Given the description of an element on the screen output the (x, y) to click on. 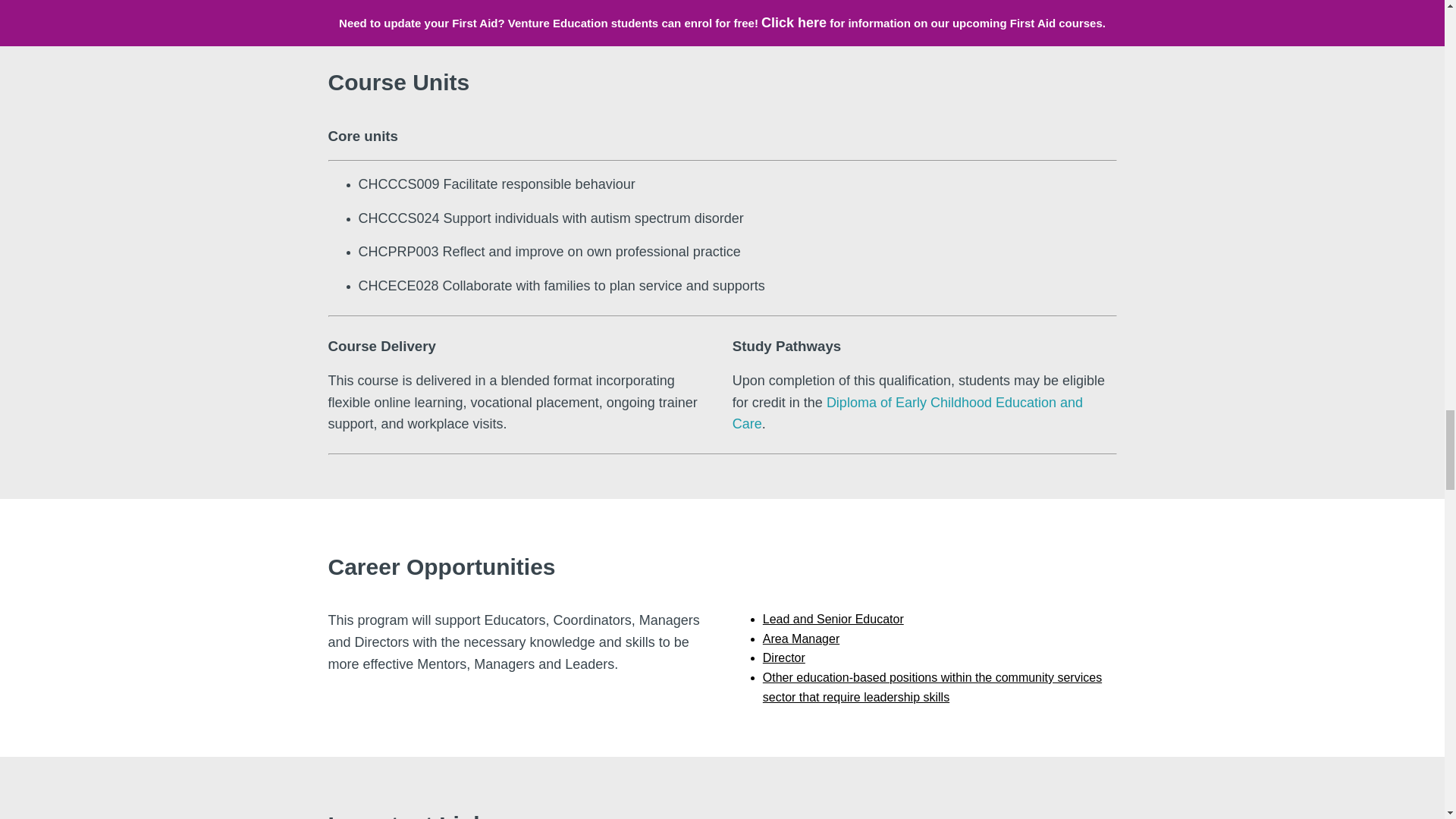
Diploma of Early Childhood Education and Care (907, 413)
